Given the description of an element on the screen output the (x, y) to click on. 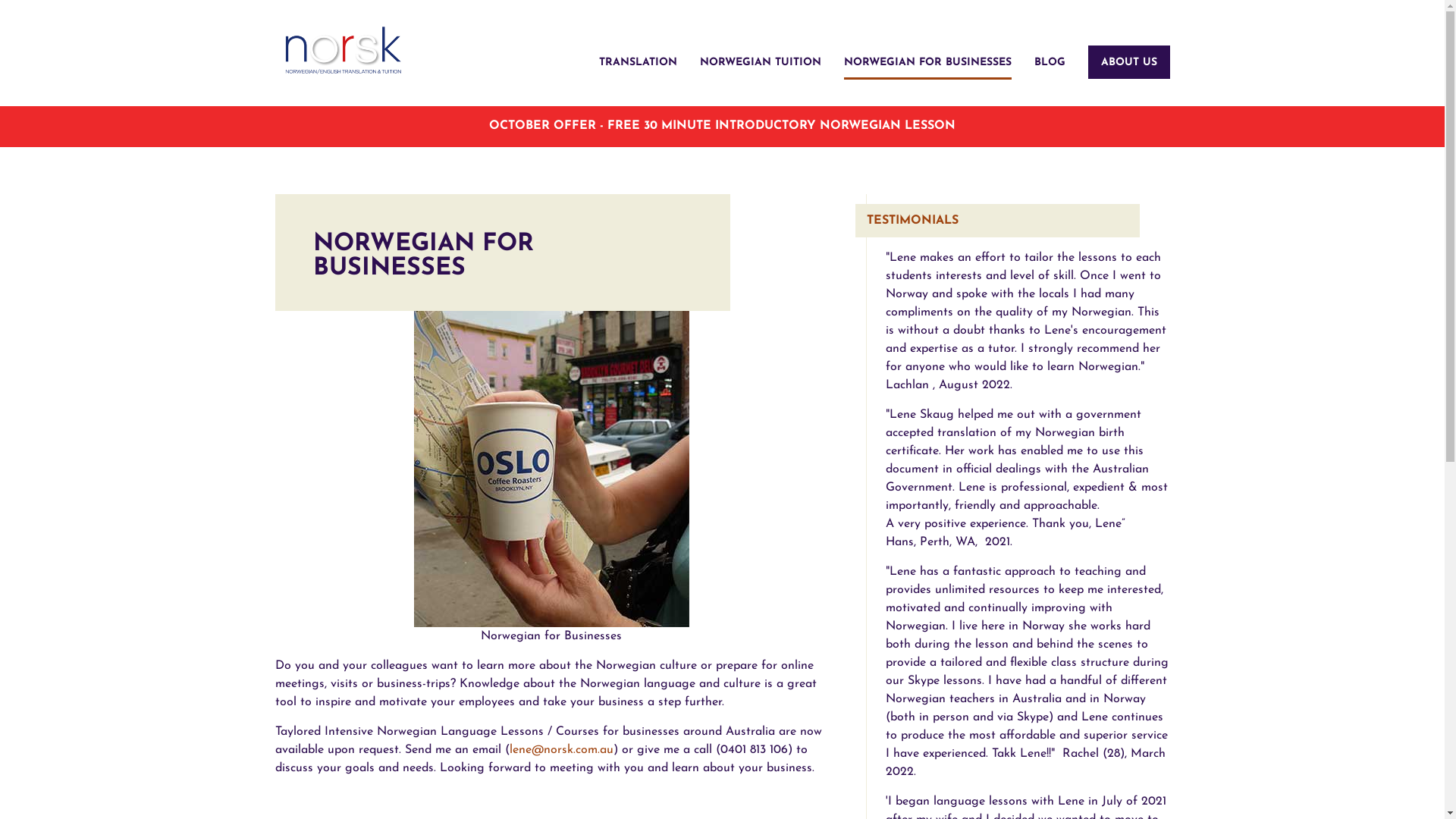
NORWEGIAN FOR BUSINESSES Element type: text (926, 62)
Norwegian for Businesses Element type: hover (551, 442)
lene@norsk.com.au Element type: text (561, 749)
ABOUT US Element type: text (1129, 62)
TRANSLATION Element type: text (638, 62)
NORWEGIAN TUITION Element type: text (759, 62)
BLOG Element type: text (1049, 62)
